Given the description of an element on the screen output the (x, y) to click on. 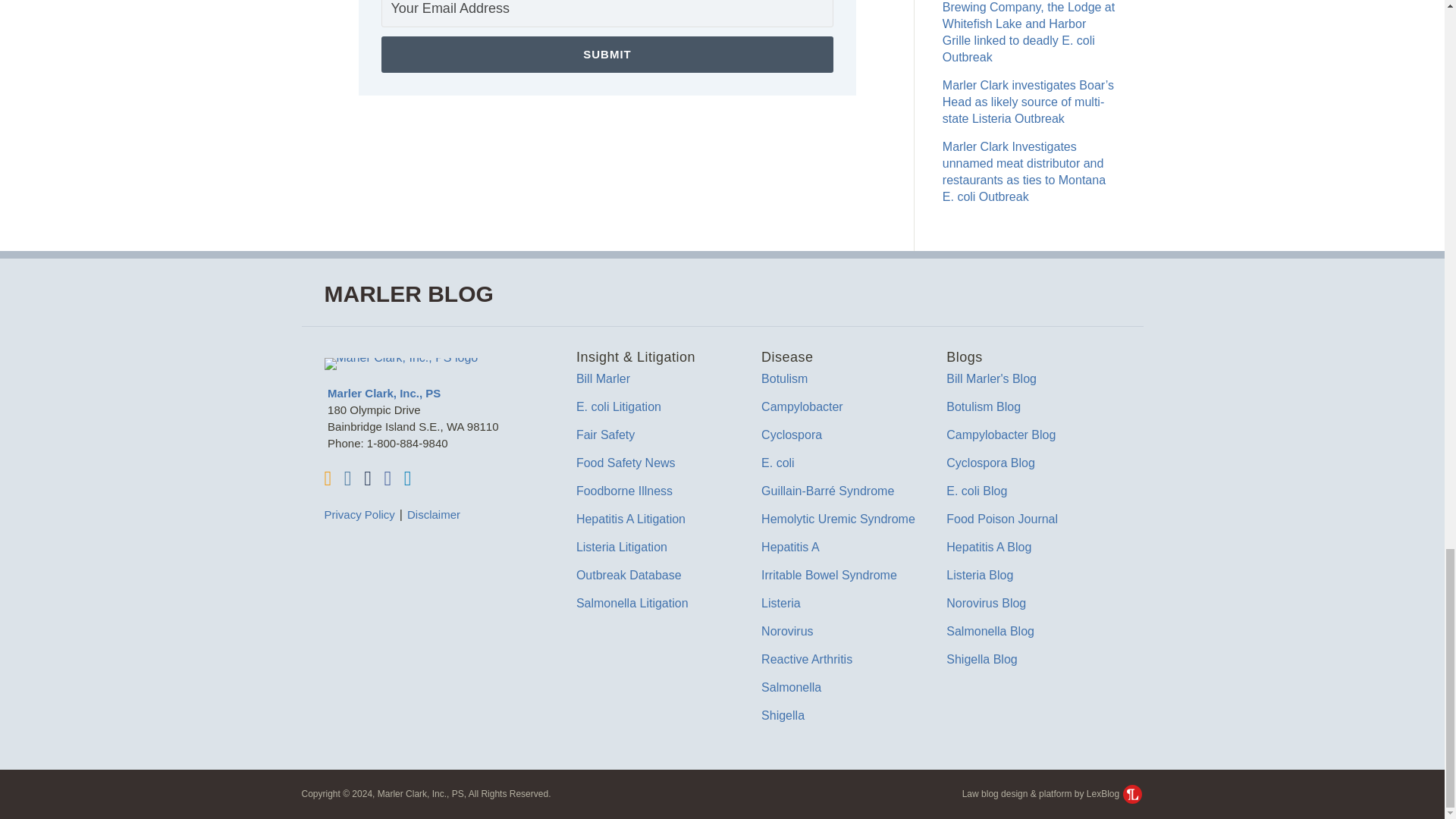
Submit (606, 54)
Submit (606, 54)
LexBlog Logo (1131, 793)
